Given the description of an element on the screen output the (x, y) to click on. 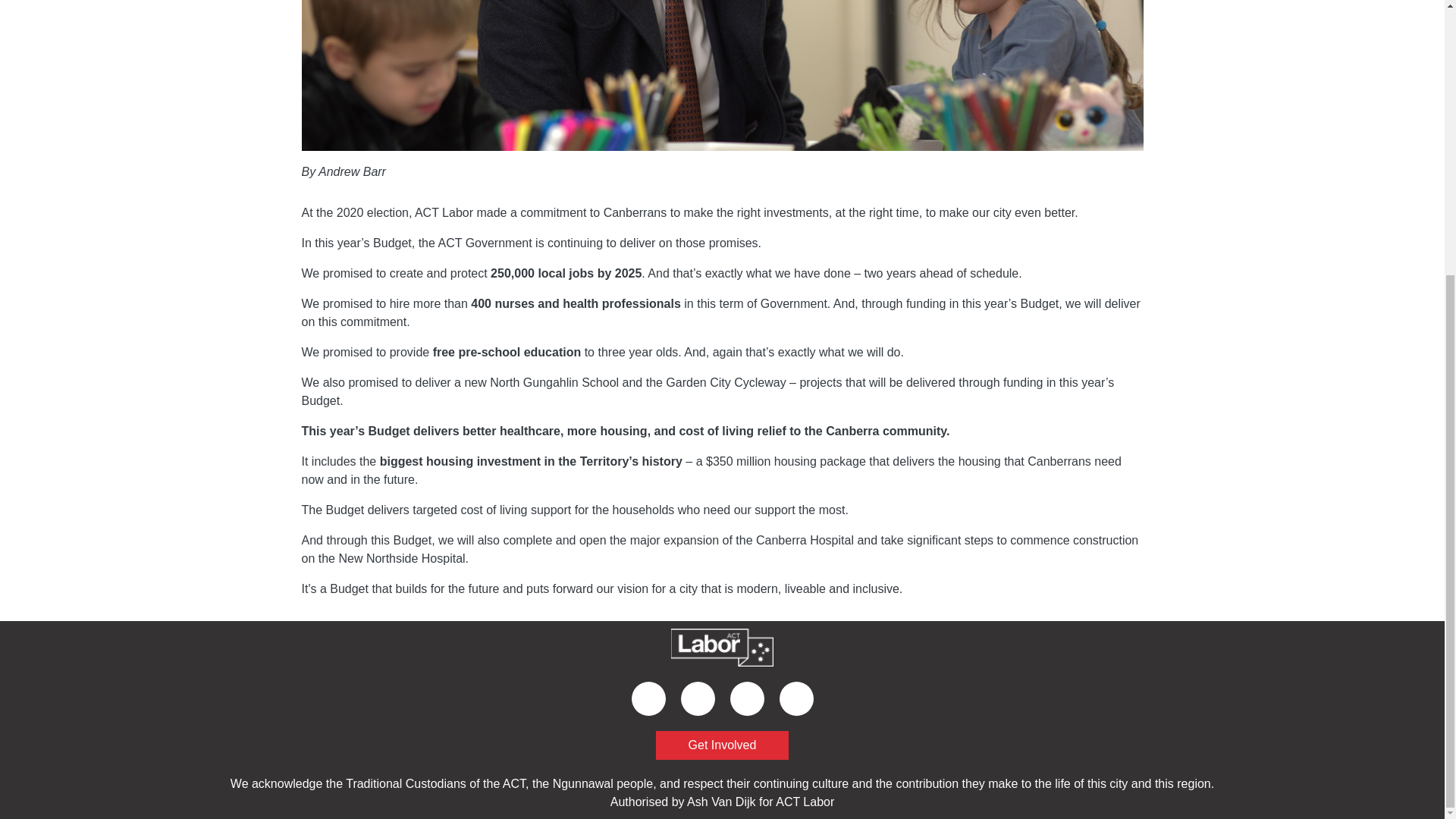
Get Involved (722, 745)
